Given the description of an element on the screen output the (x, y) to click on. 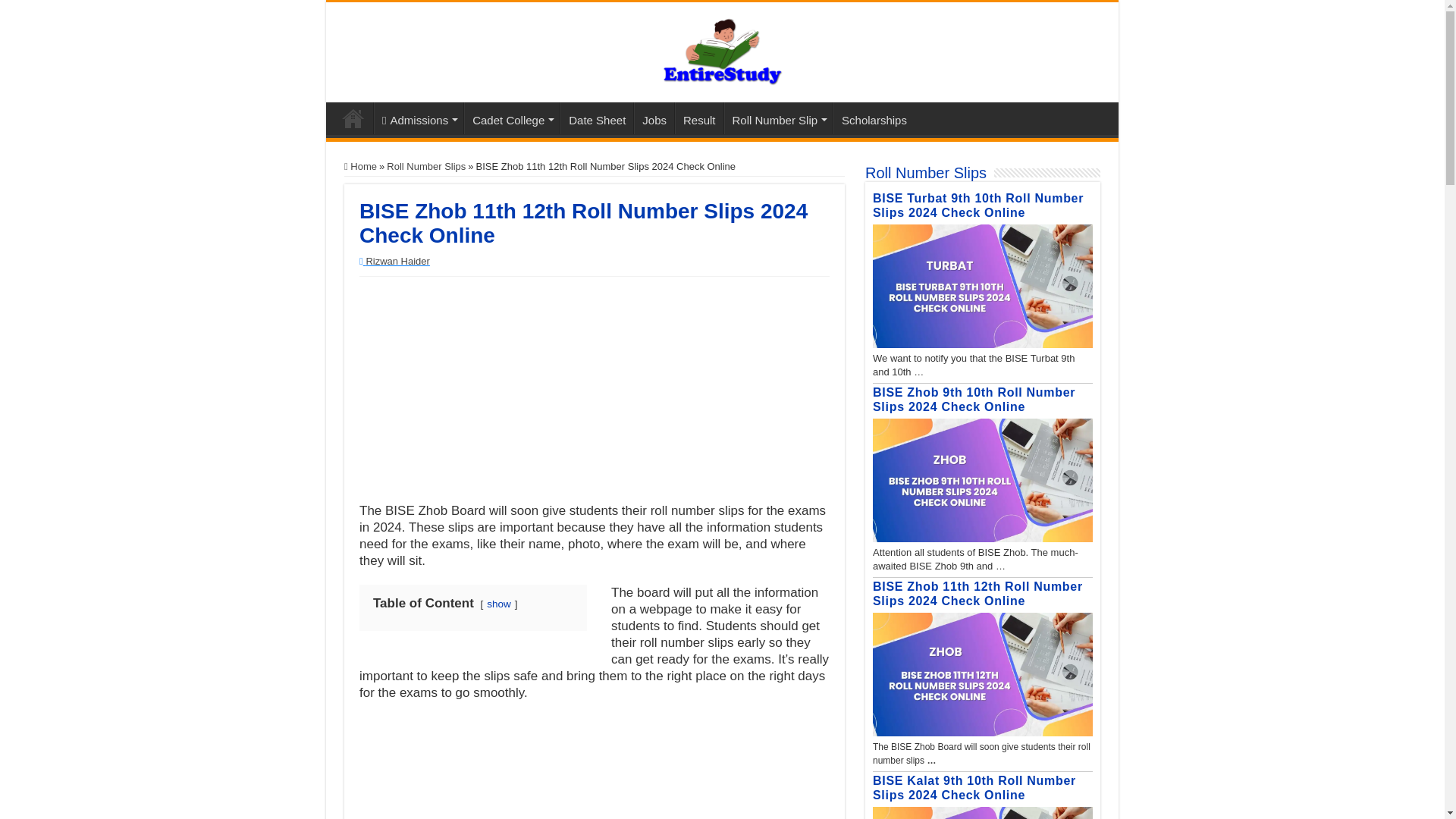
Scholarships (873, 118)
Advertisement (594, 767)
Roll Number Slip (777, 118)
BISE Zhob 11th 12th Roll Number Slips 2024 Check Online (977, 593)
EntireStudy.com (722, 49)
Advertisement (594, 390)
Jobs (653, 118)
BISE Zhob 9th 10th Roll Number Slips 2024 Check Online (973, 399)
BISE Turbat 9th 10th Roll Number Slips 2024 Check Online (977, 205)
Rizwan Haider (397, 260)
Home (352, 118)
Admissions (418, 118)
Cadet College (511, 118)
show (498, 603)
Home (360, 165)
